Given the description of an element on the screen output the (x, y) to click on. 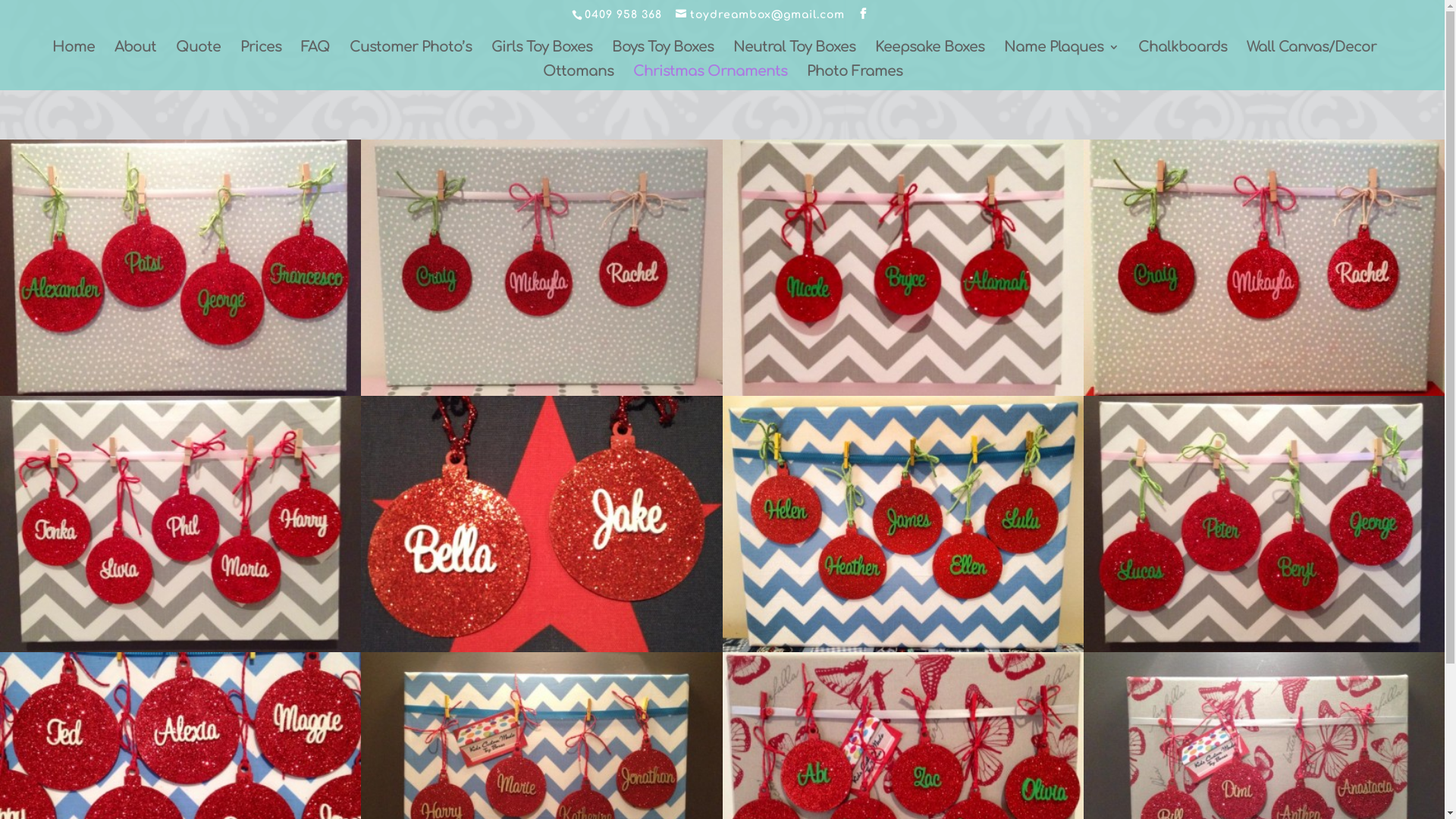
Name Plaques Element type: text (1061, 53)
Christmas Ornaments Element type: text (709, 77)
Wall Canvas/Decor Element type: text (1311, 53)
Christmas 1 Element type: hover (180, 391)
Christmas 4 Element type: hover (1263, 391)
Neutral Toy Boxes Element type: text (793, 53)
Christmas 5 Element type: hover (180, 647)
Girls Toy Boxes Element type: text (541, 53)
toydreambox@gmail.com Element type: text (759, 14)
About Element type: text (134, 53)
FAQ Element type: text (314, 53)
Christmas 7 Element type: hover (901, 647)
Boys Toy Boxes Element type: text (661, 53)
Ottomans Element type: text (577, 77)
Quote Element type: text (197, 53)
Christmas 8 Element type: hover (1263, 647)
Keepsake Boxes Element type: text (929, 53)
Photo Frames Element type: text (854, 77)
Chalkboards Element type: text (1181, 53)
Home Element type: text (72, 53)
Christmas 3 Element type: hover (901, 391)
Prices Element type: text (259, 53)
Christmas 6 Element type: hover (540, 647)
Christmas 2 Element type: hover (540, 391)
